Given the description of an element on the screen output the (x, y) to click on. 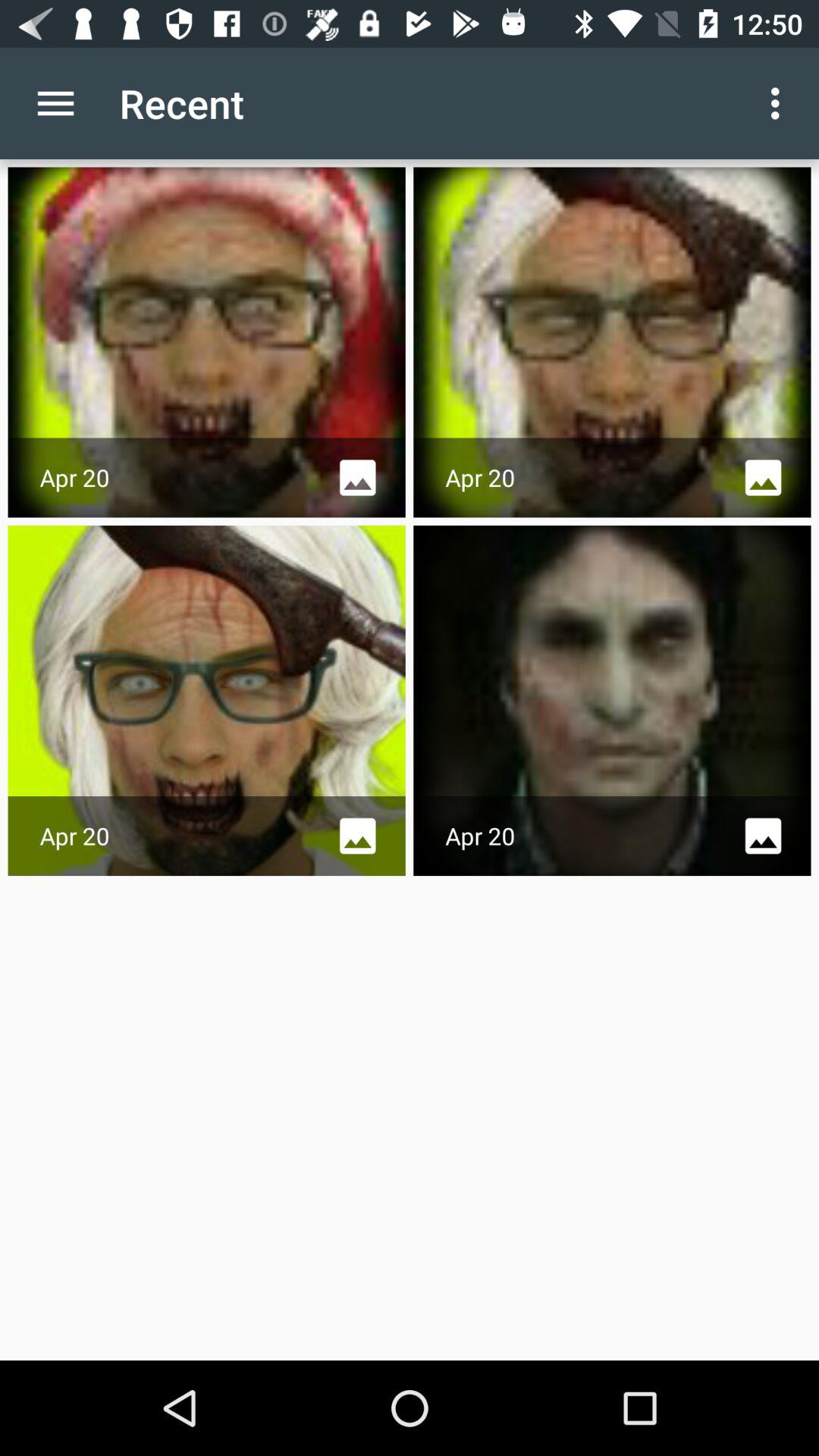
open the icon next to recent (779, 103)
